Given the description of an element on the screen output the (x, y) to click on. 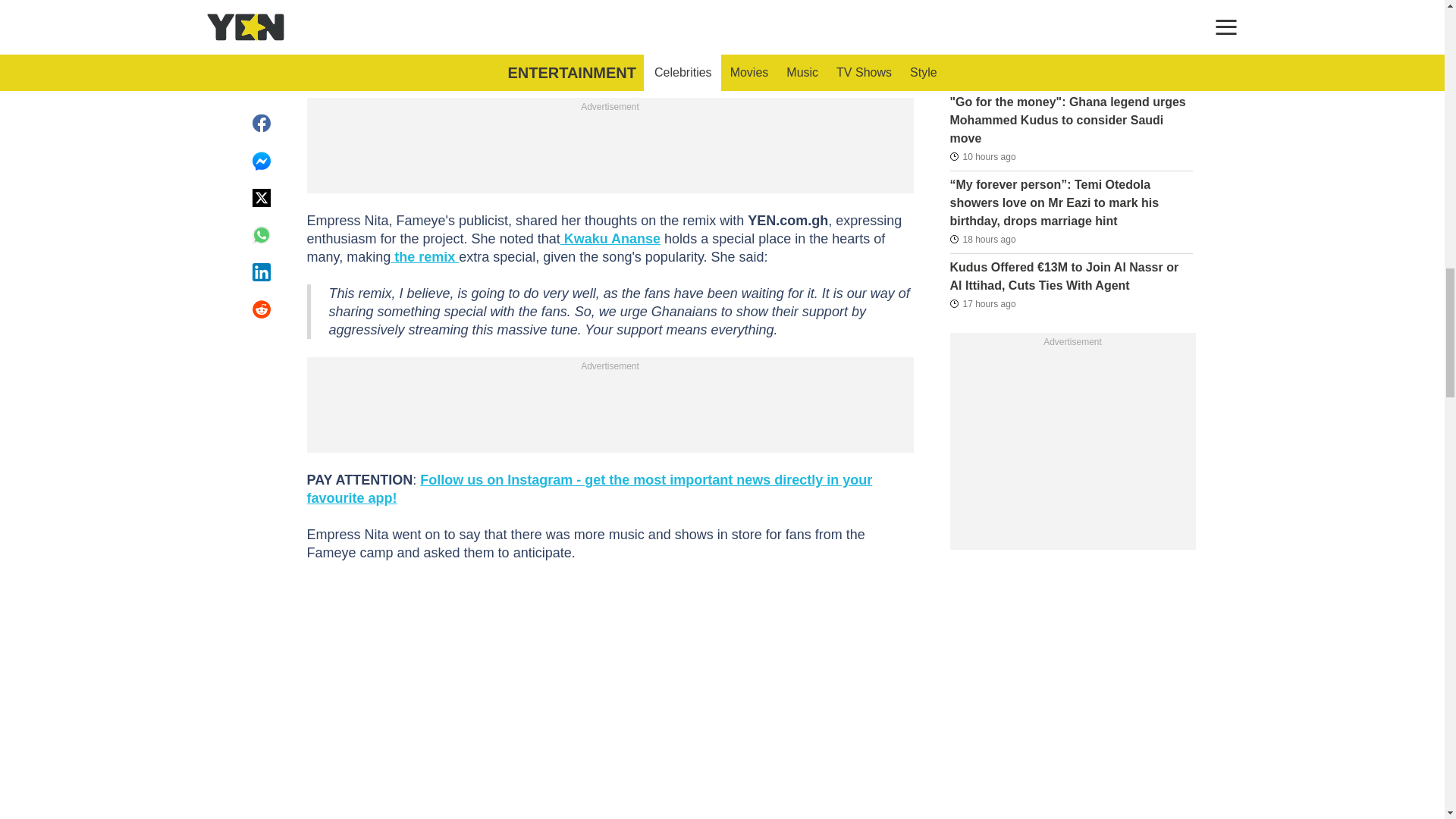
2024-07-21T10:44:40Z (981, 239)
2024-07-21T12:10:10Z (981, 303)
2024-07-21T20:47:29Z (979, 9)
2024-07-21T11:14:34Z (981, 74)
2024-07-21T19:02:40Z (981, 156)
